Given the description of an element on the screen output the (x, y) to click on. 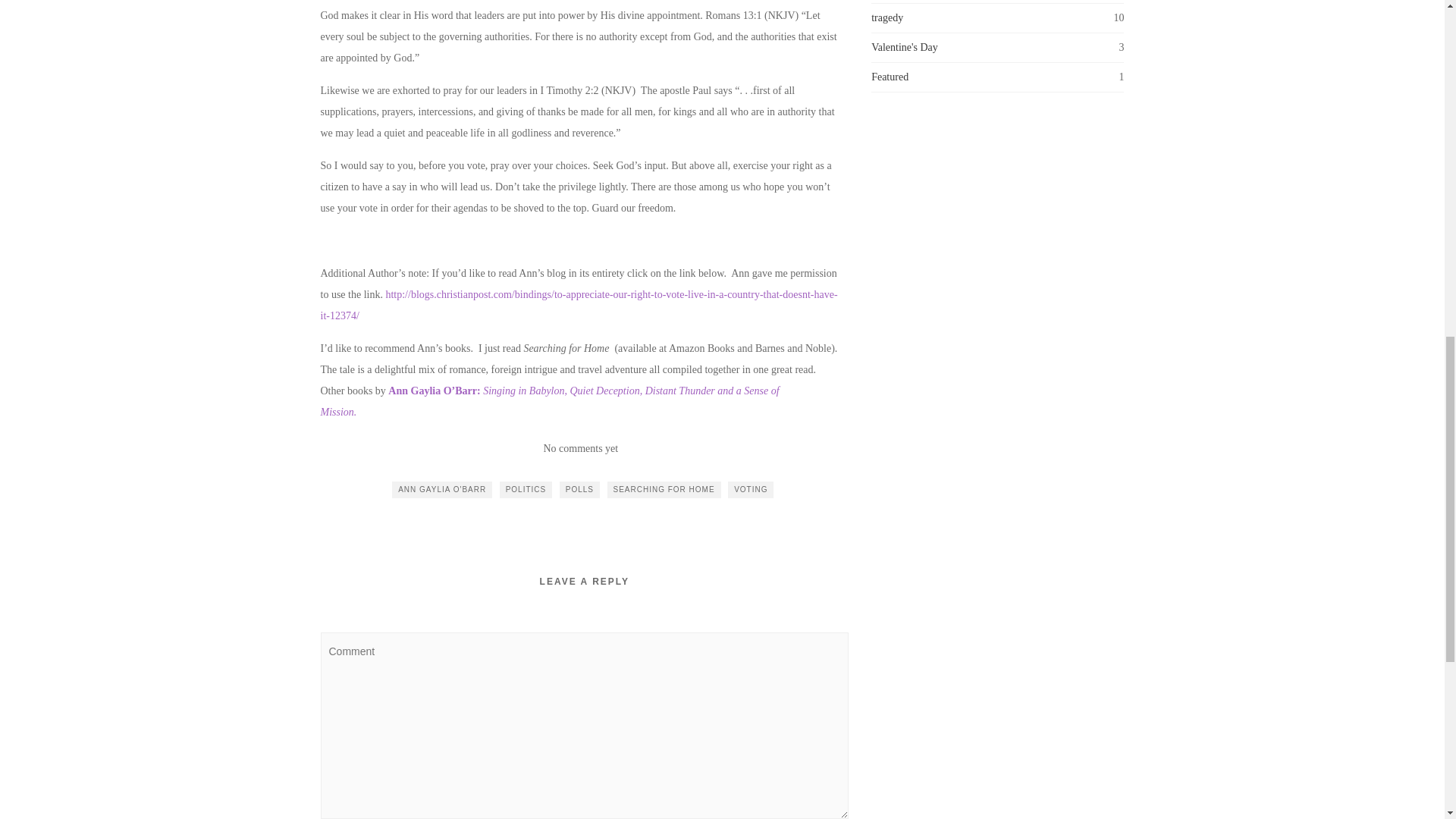
POLLS (579, 489)
SEARCHING FOR HOME (663, 489)
POLITICS (526, 489)
ANN GAYLIA O'BARR (441, 489)
No comments yet (580, 448)
VOTING (750, 489)
